Given the description of an element on the screen output the (x, y) to click on. 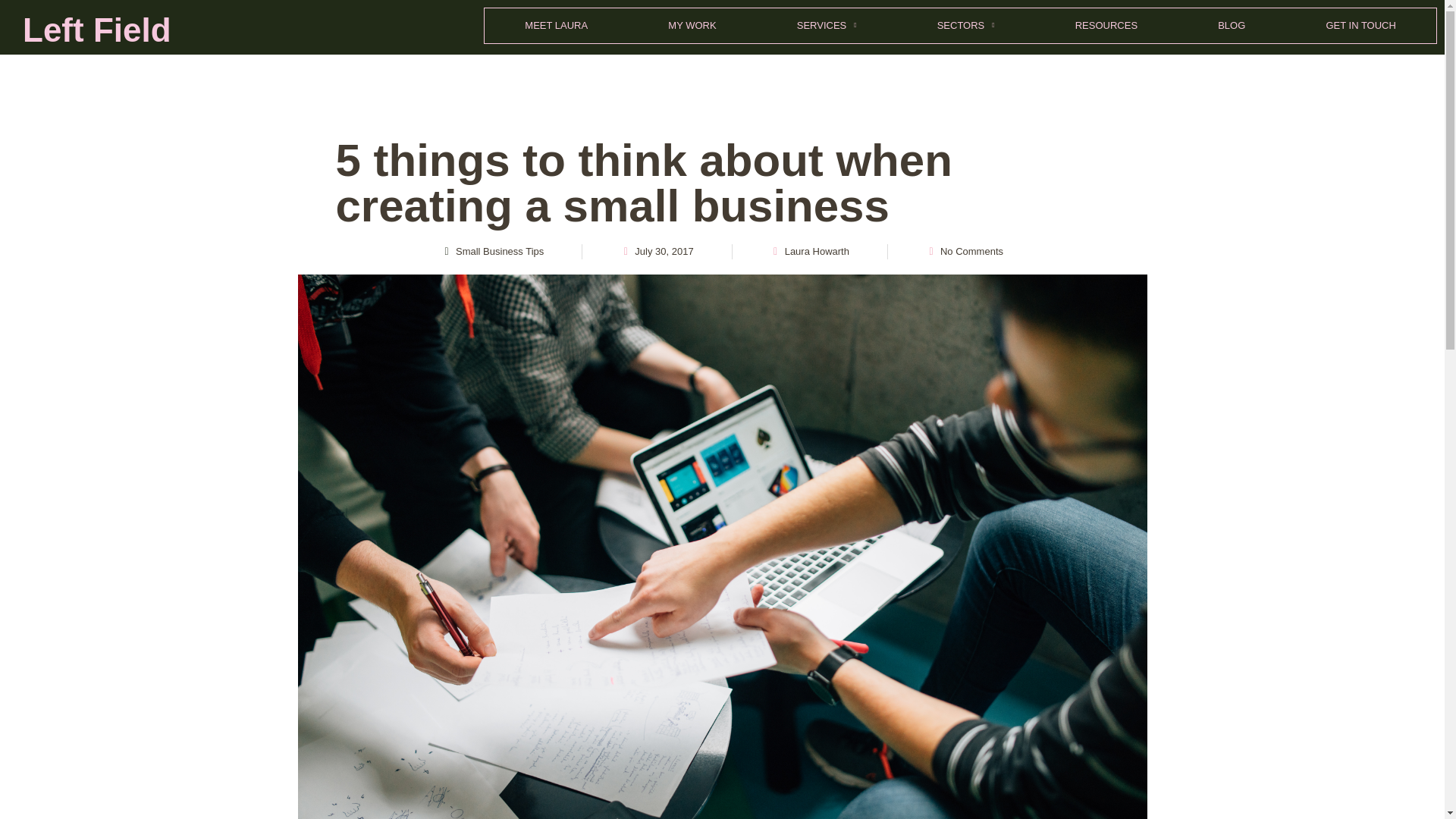
Left Field (97, 29)
BLOG (1231, 25)
SERVICES (826, 25)
MEET LAURA (555, 25)
Laura Howarth (809, 251)
GET IN TOUCH (1360, 25)
July 30, 2017 (656, 251)
MY WORK (691, 25)
SECTORS (965, 25)
RESOURCES (1106, 25)
Small Business Tips (499, 251)
No Comments (964, 251)
